Given the description of an element on the screen output the (x, y) to click on. 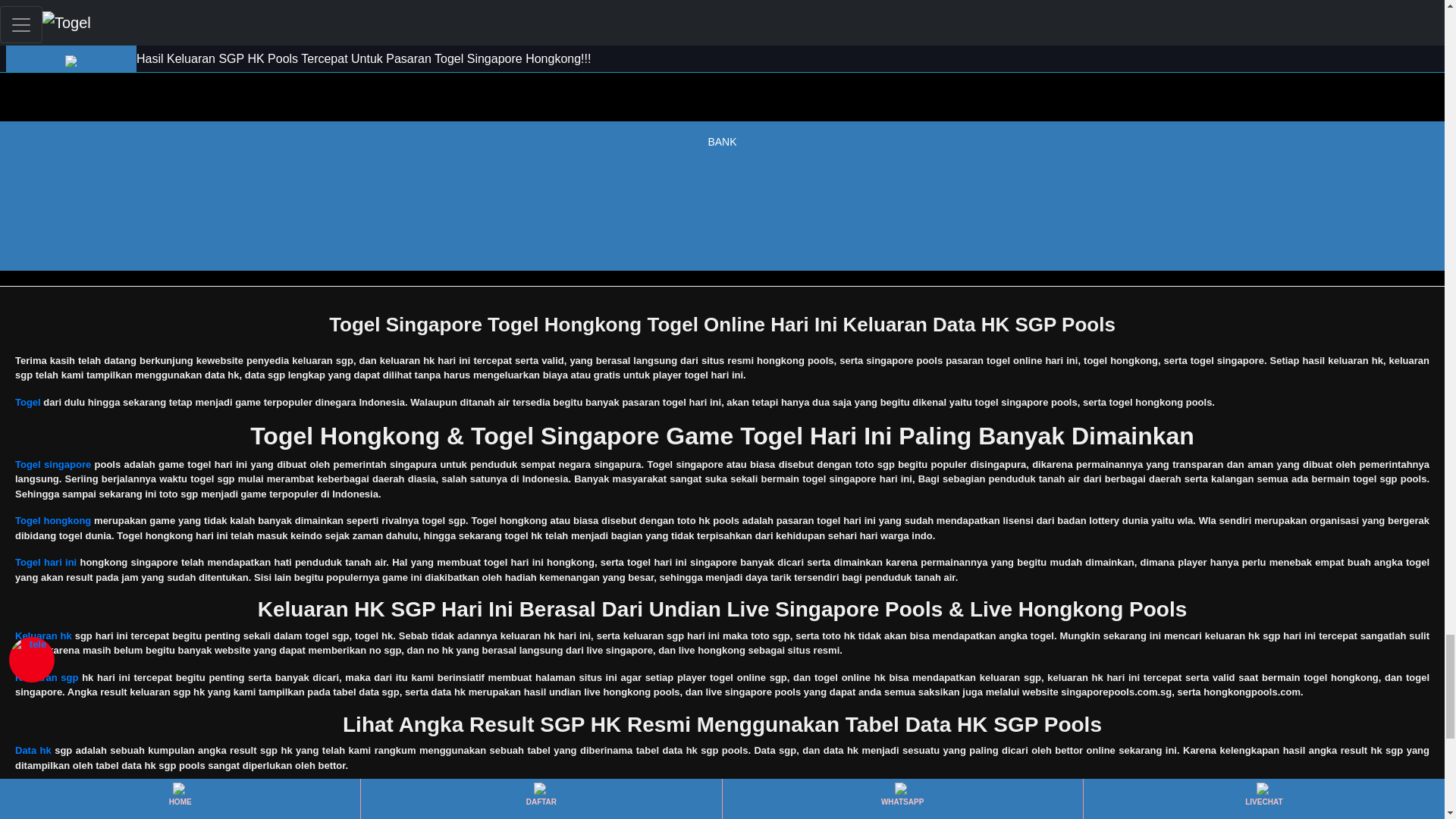
Togel (27, 401)
Data sgp (35, 791)
Togel hongkong (52, 520)
Keluaran hk (42, 635)
Keluaran sgp (46, 677)
Togel hari ini (45, 562)
Data hk (32, 749)
Togel singapore (52, 464)
